Given the description of an element on the screen output the (x, y) to click on. 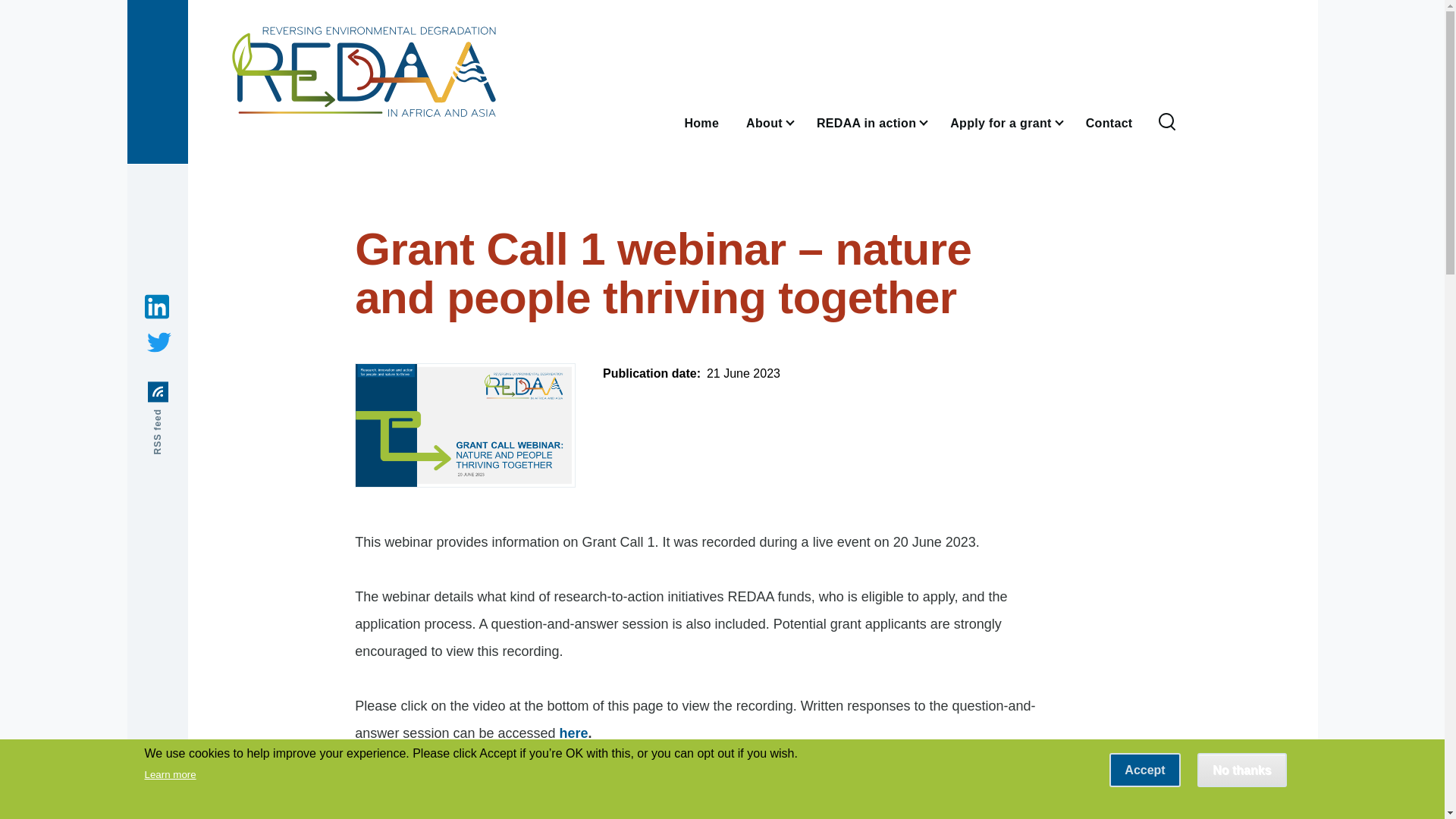
Accept (1144, 769)
REDAA in action (869, 122)
No thanks (1240, 769)
About (767, 122)
here (573, 733)
Contact (1109, 122)
RSS feed (183, 391)
Grant Call 1 Resources (680, 799)
Apply for a grant (1004, 122)
Skip to main content (595, 6)
Learn more (169, 774)
